Given the description of an element on the screen output the (x, y) to click on. 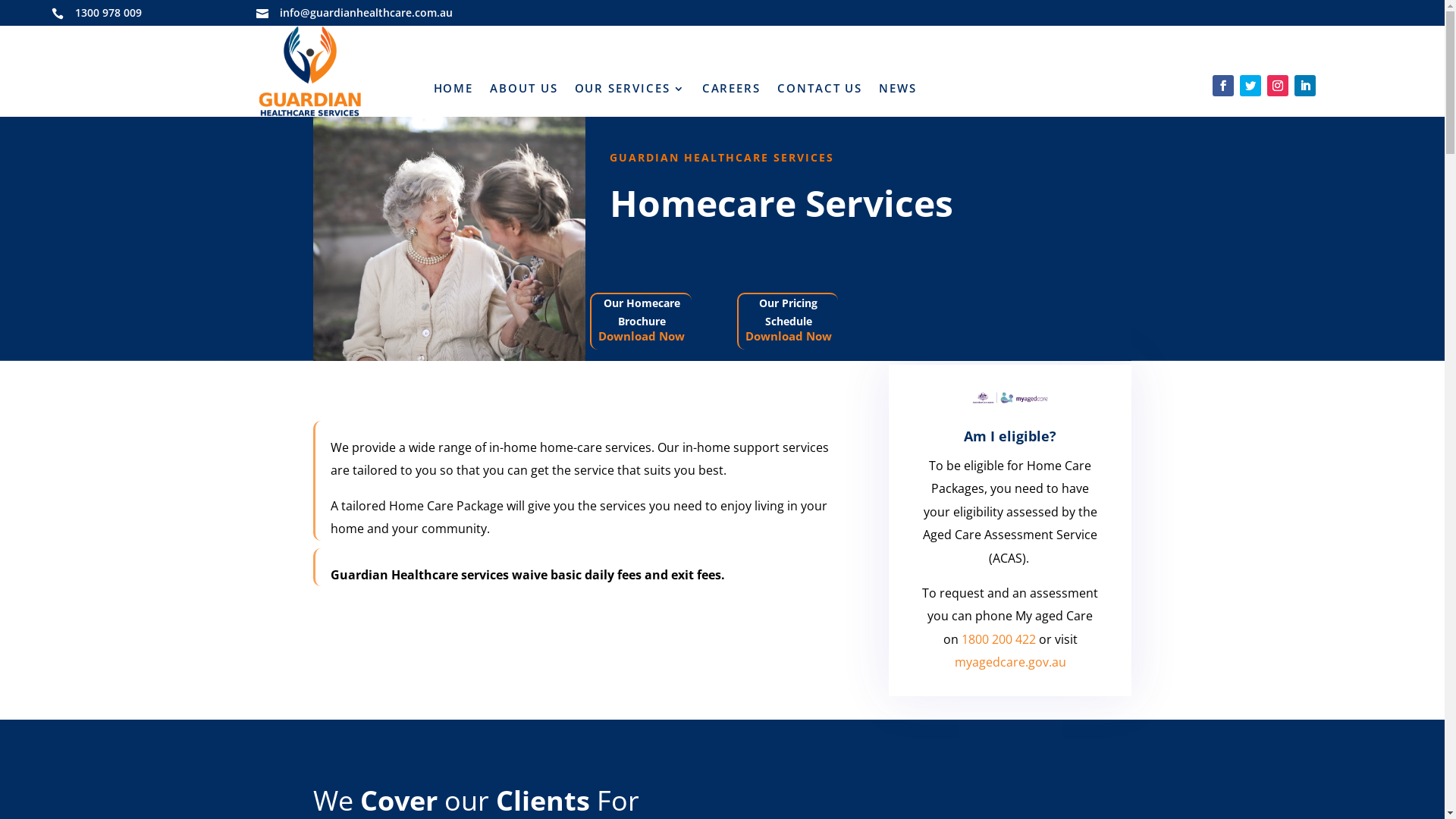
Download Now Element type: text (788, 335)
HOME Element type: text (453, 91)
info@guardianhealthcare.com.au Element type: text (365, 12)
CAREERS Element type: text (731, 91)
1800 200 422 Element type: text (996, 638)
Follow on Instagram Element type: hover (1277, 85)
Follow on LinkedIn Element type: hover (1304, 85)
CONTACT US Element type: text (819, 91)
Am I eligible? Element type: text (1009, 435)
Download Now Element type: text (641, 335)
NEWS Element type: text (897, 91)
Follow on Twitter Element type: hover (1250, 85)
Follow on Facebook Element type: hover (1222, 85)
1300 978 009 Element type: text (107, 12)
myagedcare.gov.au Element type: text (1010, 661)
ABOUT US Element type: text (523, 91)
OUR SERVICES Element type: text (629, 91)
